Given the description of an element on the screen output the (x, y) to click on. 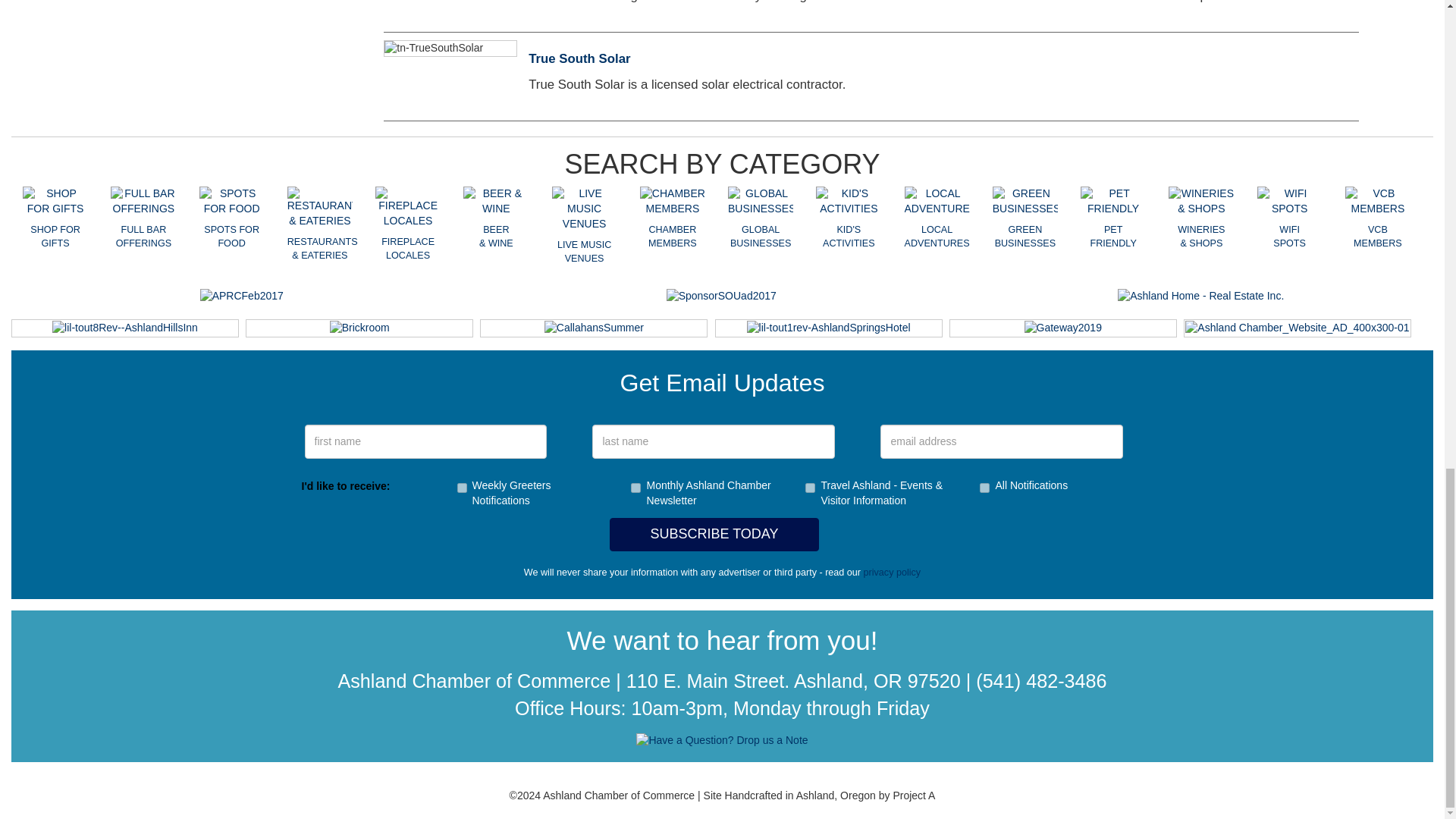
2 (461, 488)
14 (635, 488)
KID'S ACTIVITIES (847, 201)
LOCAL ADVENTURE (936, 201)
PET FRIENDLY (1112, 201)
GREEN BUSINESSES (1025, 201)
All Notifications (984, 488)
WIFI SPOTS (1289, 201)
SPOTS FOR FOOD (230, 201)
VCB MEMBERS (1377, 201)
